Given the description of an element on the screen output the (x, y) to click on. 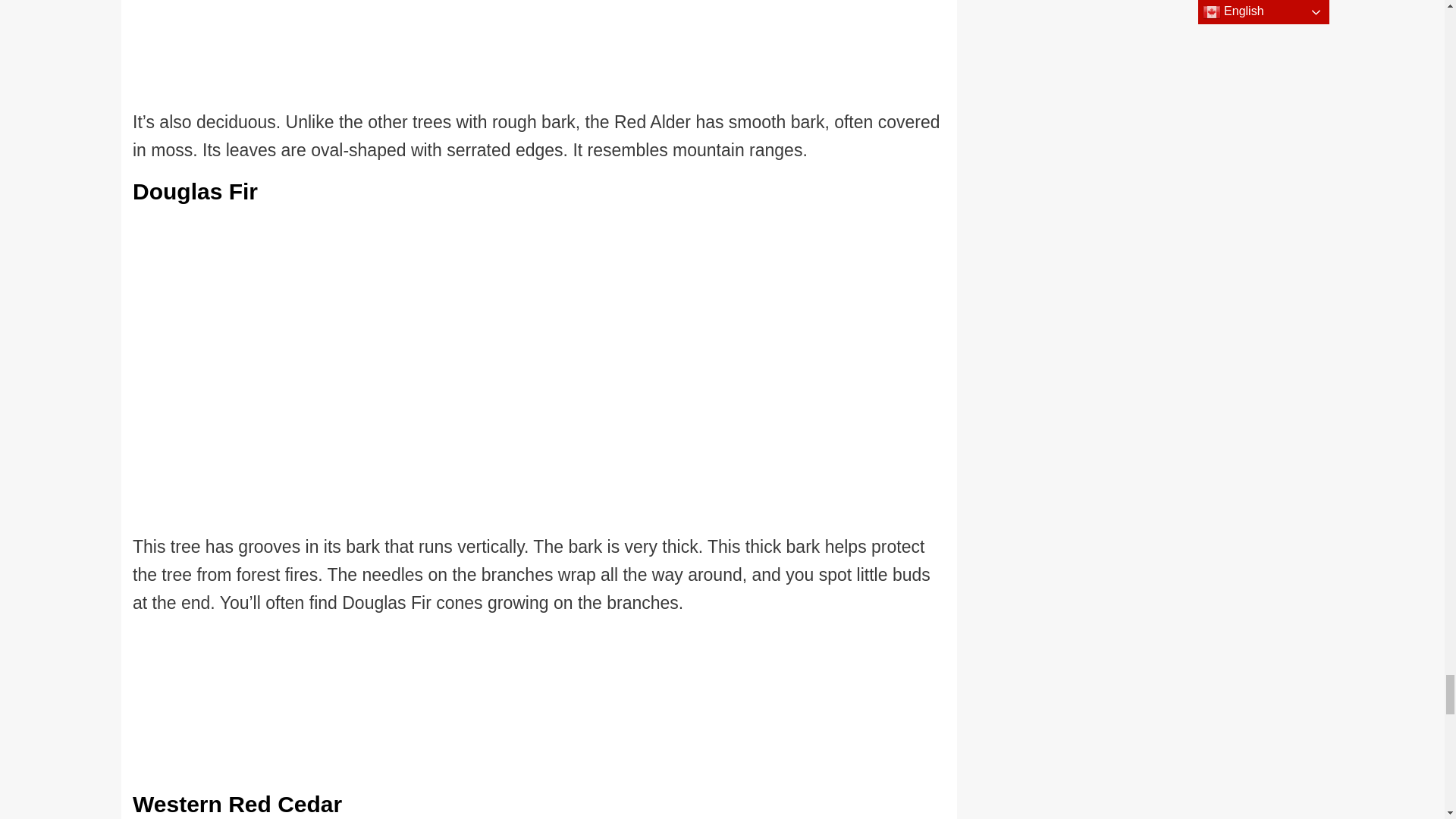
Trees in Washington State: Learn How To Identify 11 (446, 54)
